Given the description of an element on the screen output the (x, y) to click on. 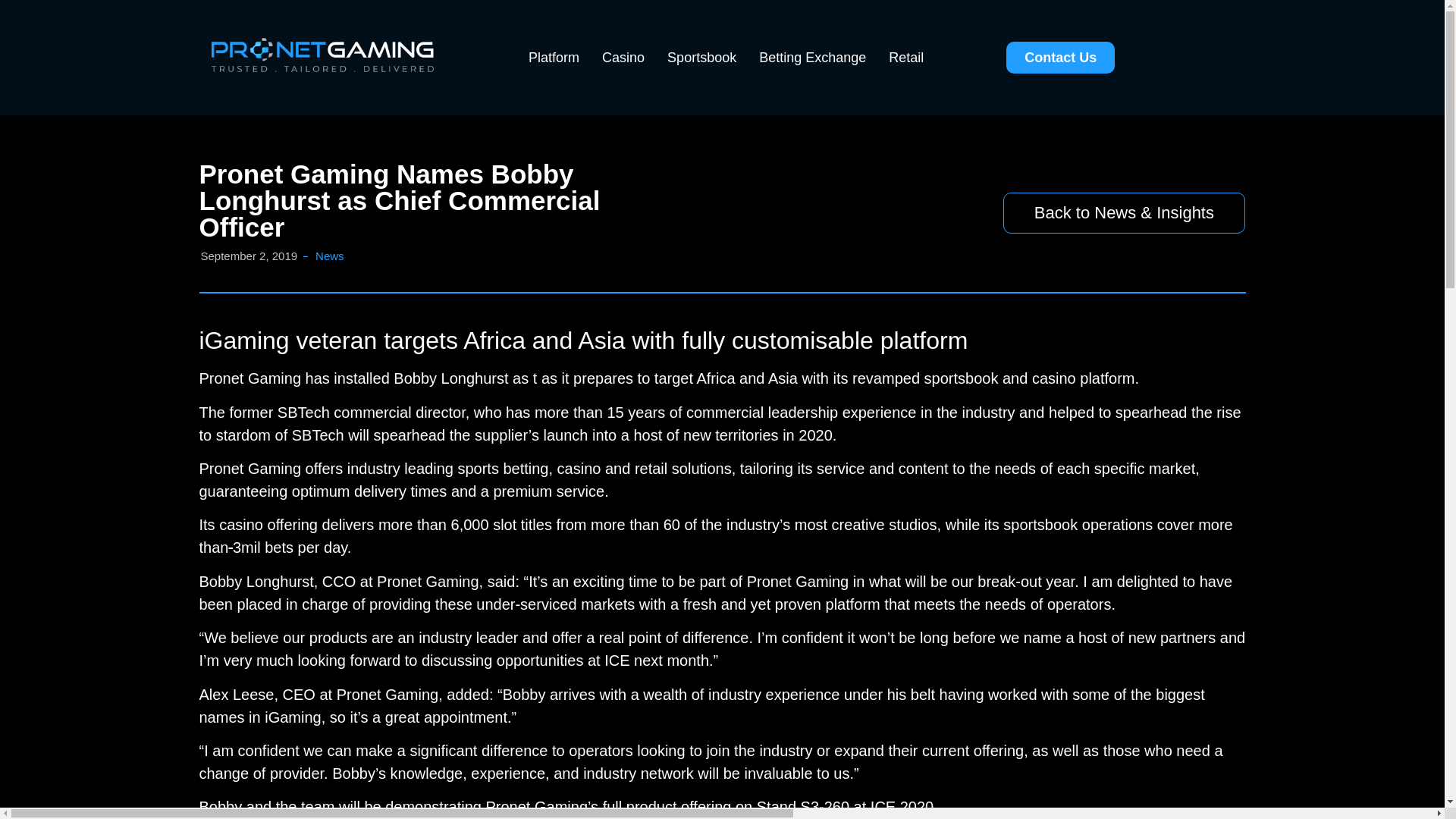
Retail (905, 57)
Platform (553, 57)
Sportsbook (702, 57)
Betting Exchange (812, 57)
Casino (623, 57)
Contact Us (1060, 57)
